Given the description of an element on the screen output the (x, y) to click on. 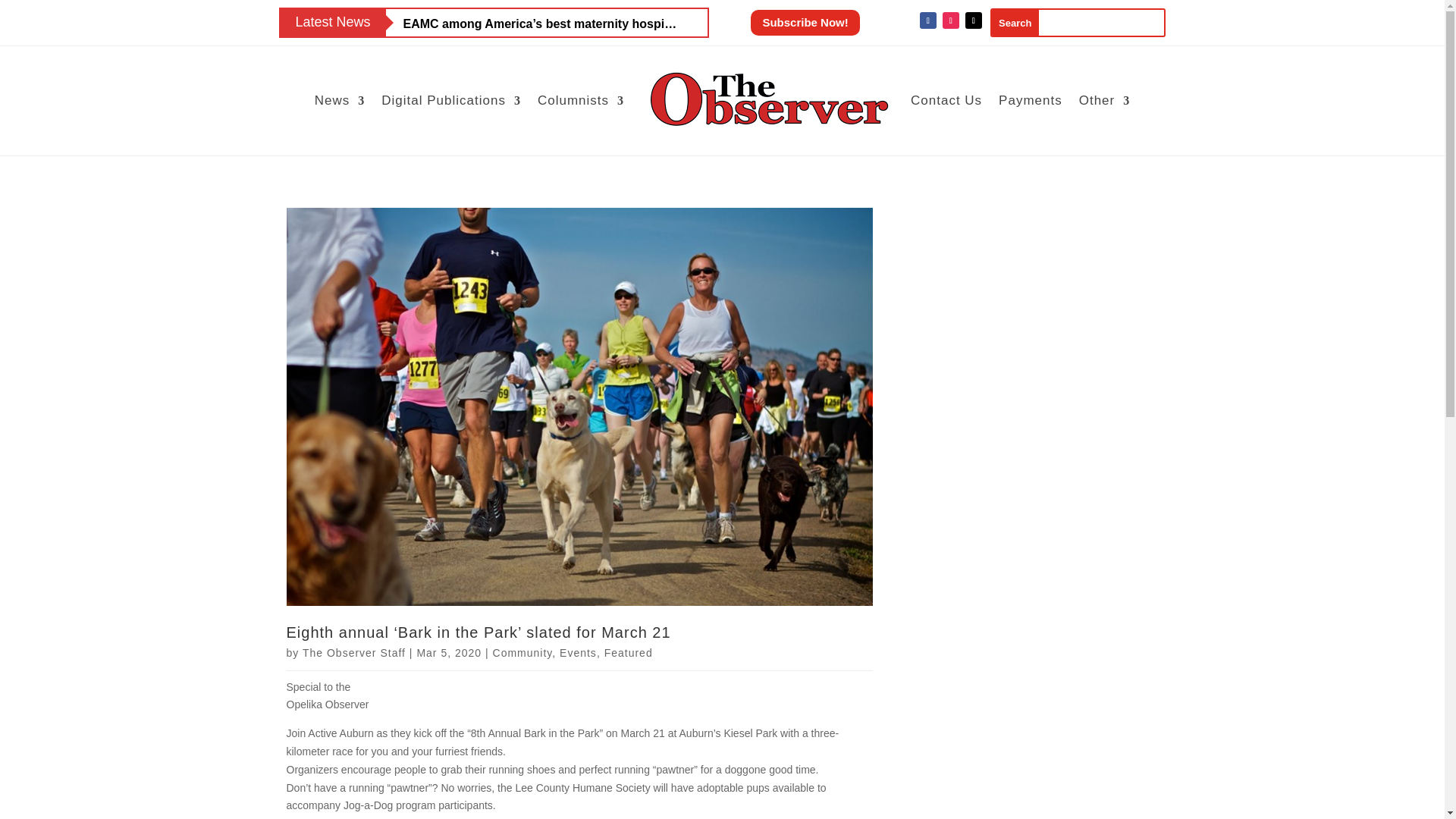
Columnists (580, 100)
Search (1015, 22)
Digital Publications (451, 100)
Follow on X (973, 20)
Subscribe Now! (804, 22)
Posts by The Observer Staff (354, 653)
Search (1015, 22)
Search (1015, 22)
Follow on Instagram (950, 20)
Follow on Facebook (928, 20)
